Given the description of an element on the screen output the (x, y) to click on. 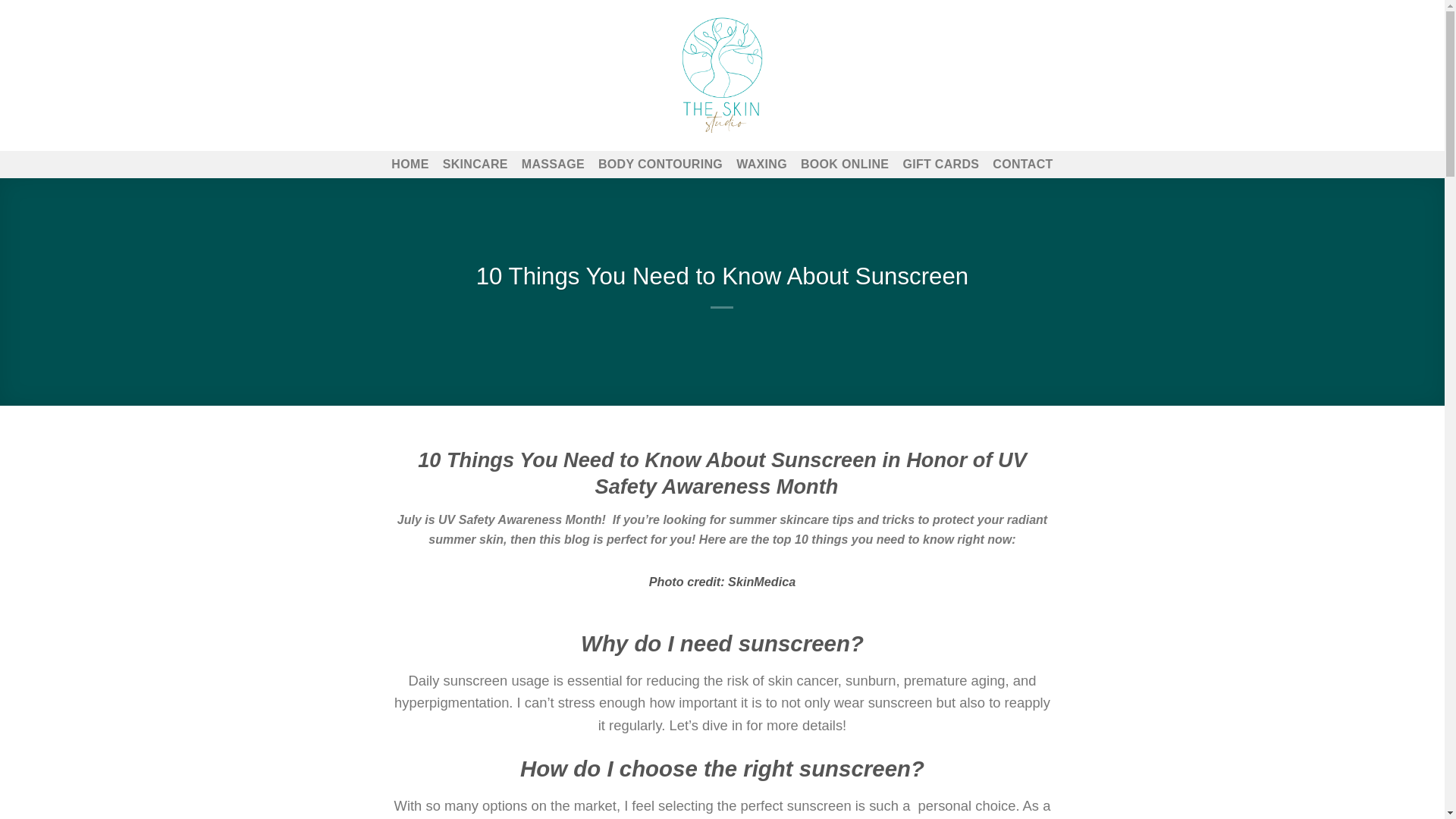
BOOK ONLINE (844, 164)
GIFT CARDS (940, 164)
BODY CONTOURING (660, 164)
SKINCARE (475, 164)
MASSAGE (553, 164)
CONTACT (1022, 164)
The Skin Studio - Facials and Massage in Vestavia Hills, Al (722, 75)
WAXING (761, 164)
HOME (409, 164)
